Given the description of an element on the screen output the (x, y) to click on. 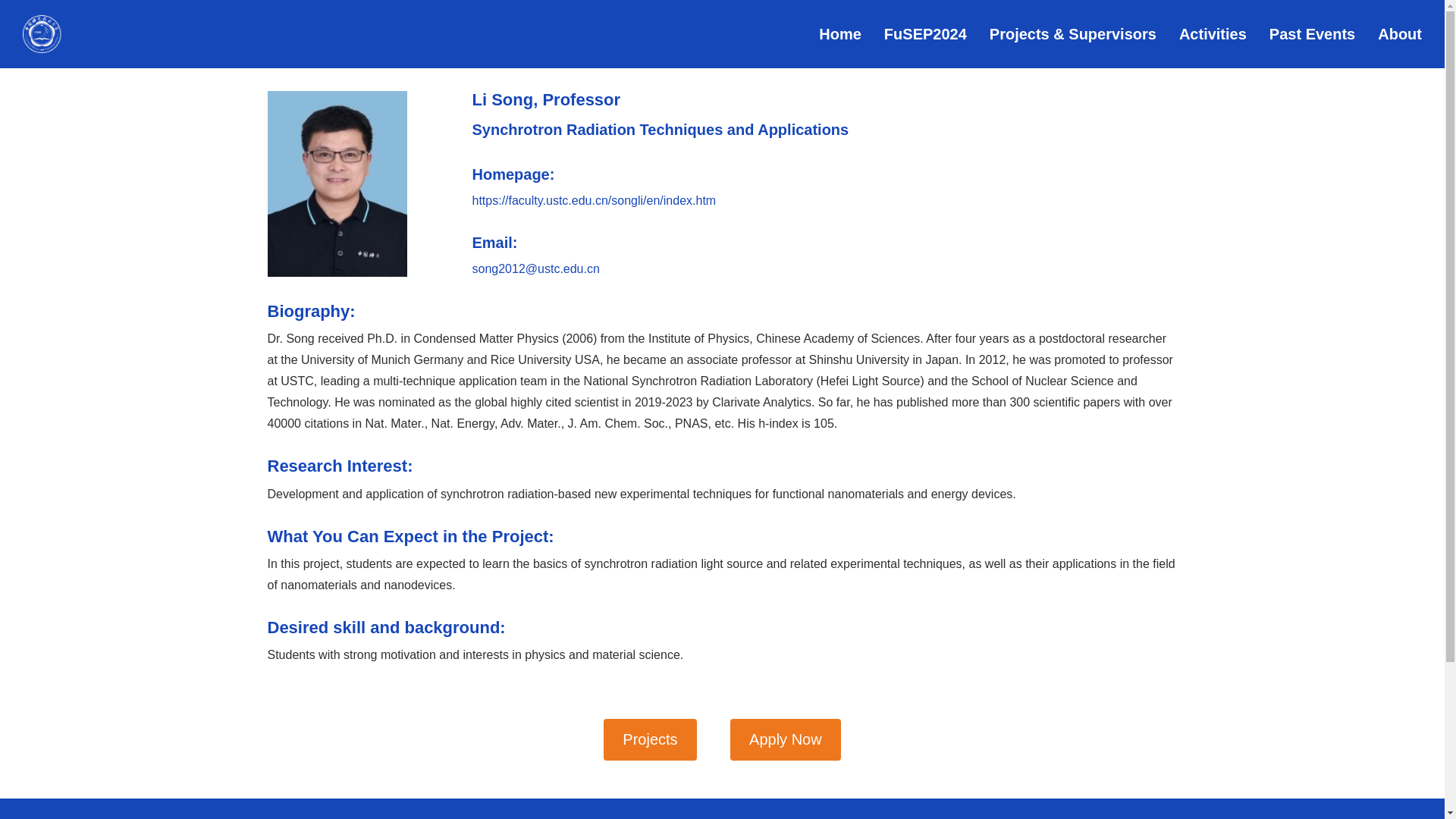
FuSEP2024 (924, 34)
Activities (1212, 34)
About (1399, 34)
Apply Now (785, 739)
Home (839, 34)
Past Events (1312, 34)
Projects (649, 739)
